Given the description of an element on the screen output the (x, y) to click on. 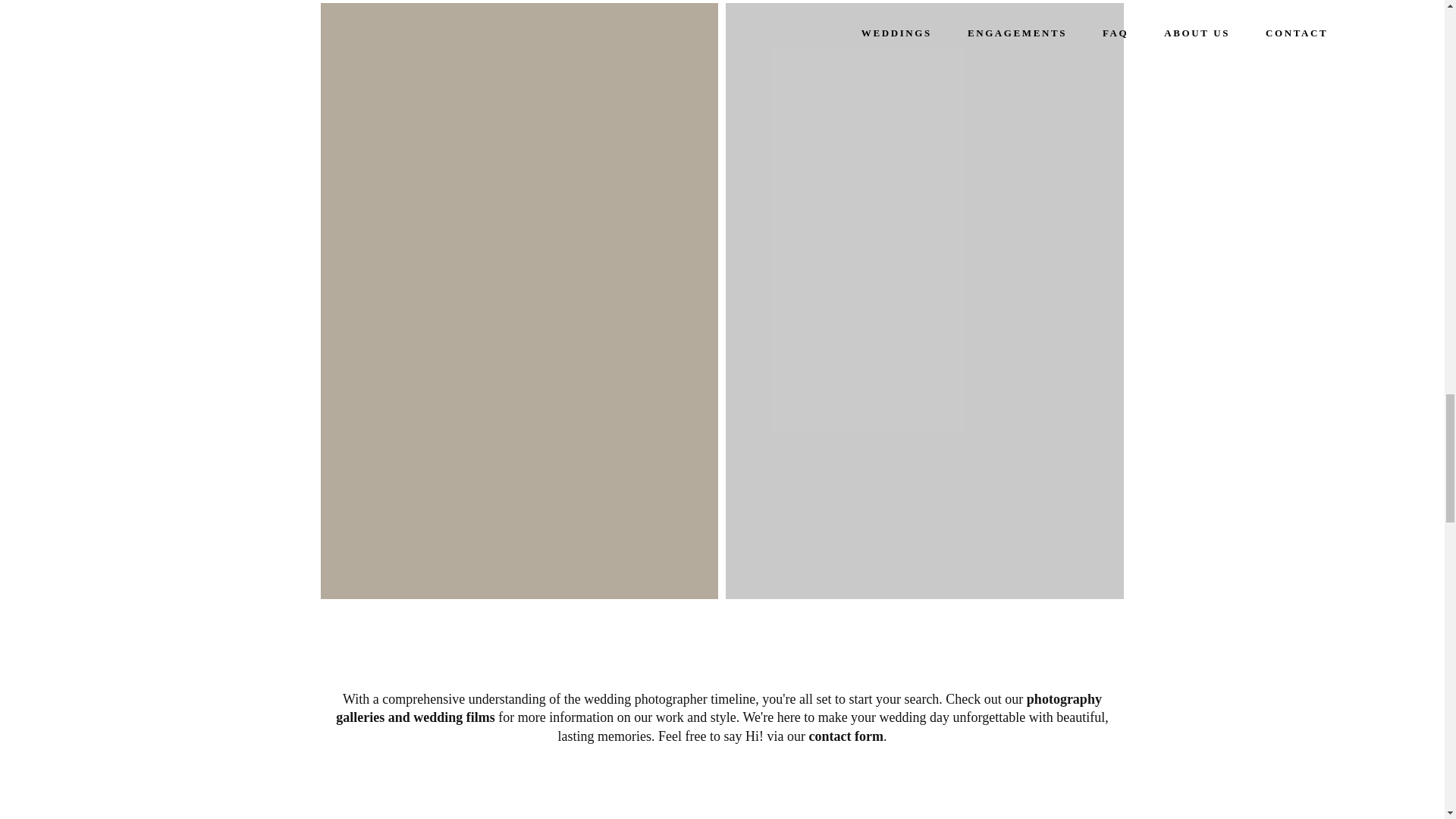
photography galleries and wedding films (719, 707)
contact form (845, 735)
